Given the description of an element on the screen output the (x, y) to click on. 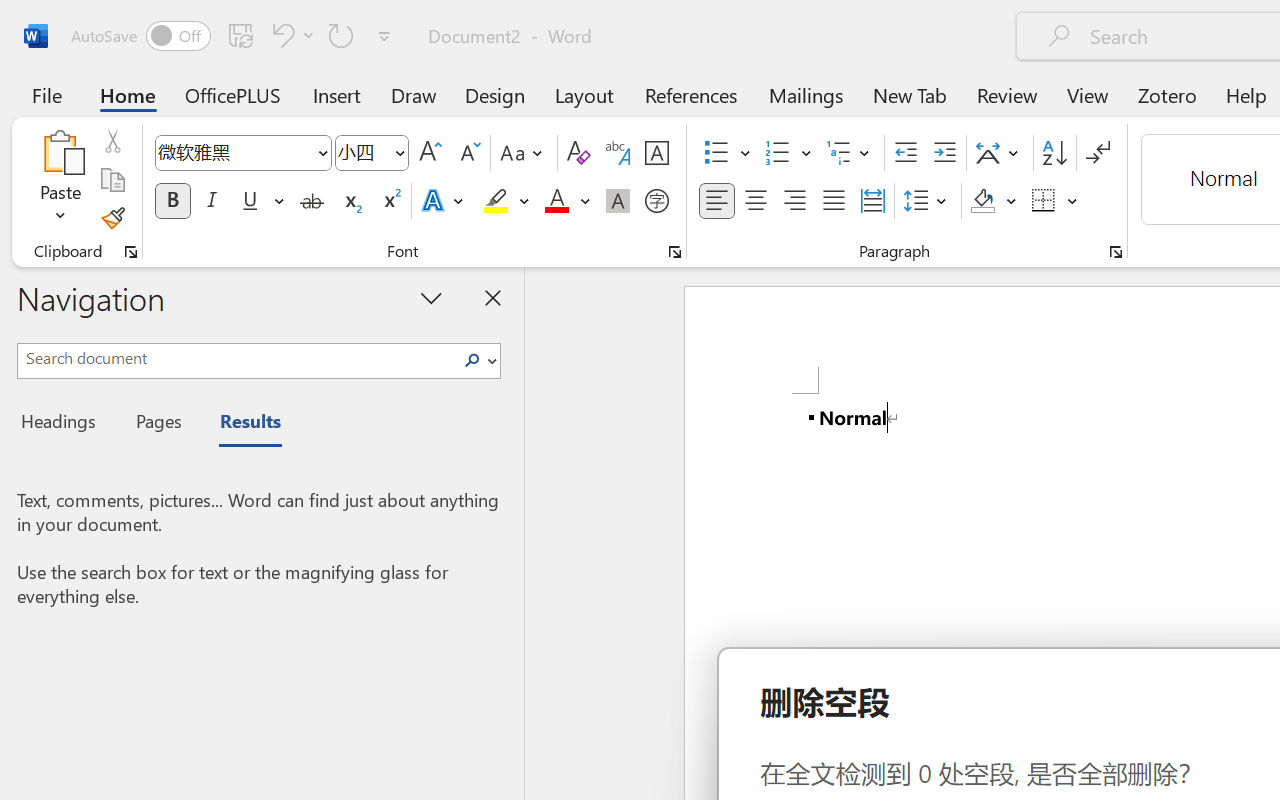
Paragraph... (1115, 252)
Font Size (362, 152)
Quick Access Toolbar (233, 36)
Search document (236, 358)
Pages (156, 424)
Decrease Indent (906, 153)
Borders (1055, 201)
Design (495, 94)
Enclose Characters... (656, 201)
Subscript (350, 201)
Undo <ApplyStyleToDoc>b__0 (290, 35)
New Tab (909, 94)
Undo <ApplyStyleToDoc>b__0 (280, 35)
Distributed (872, 201)
